Given the description of an element on the screen output the (x, y) to click on. 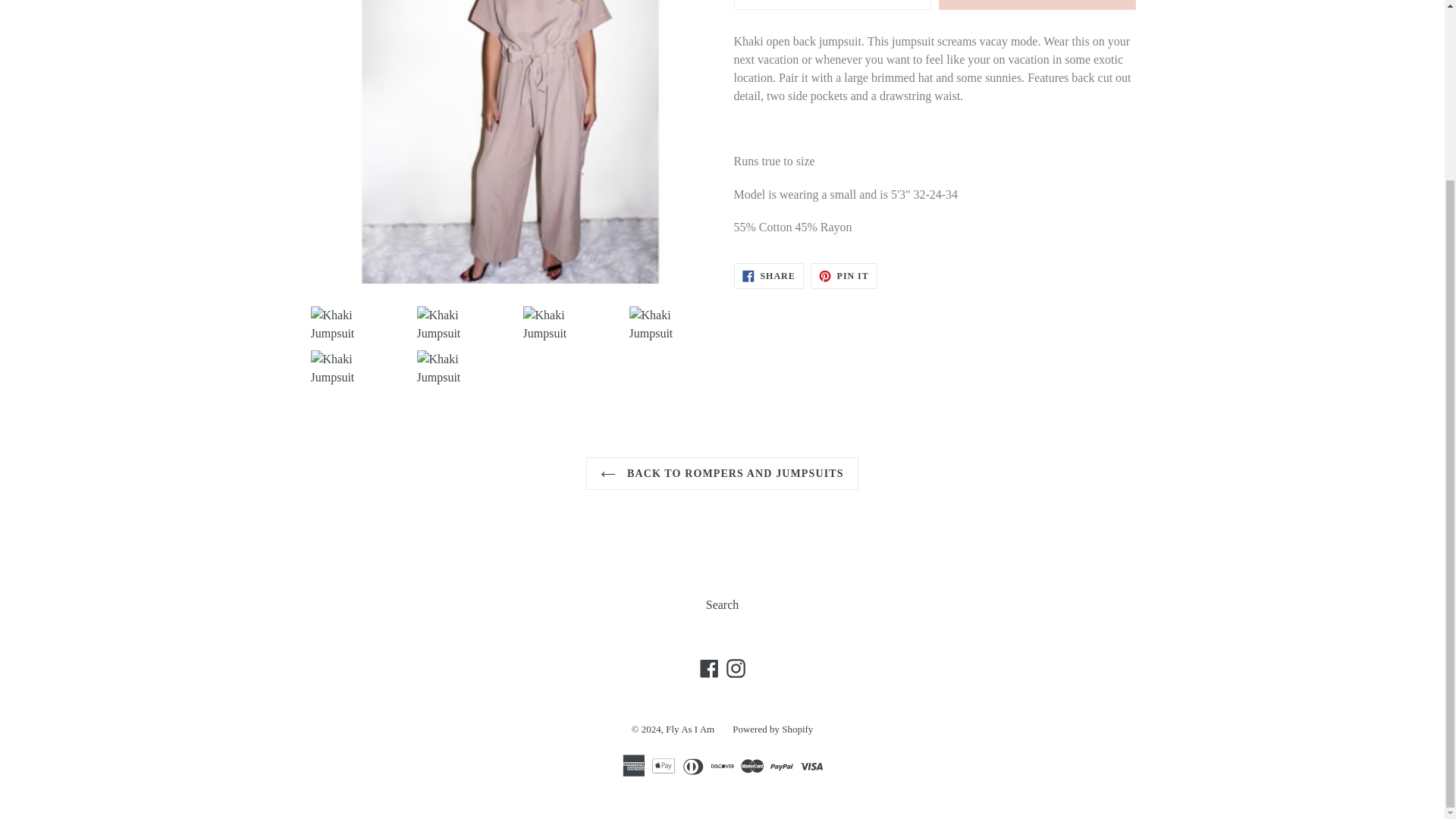
Share on Facebook (768, 275)
Fly As I Am on Facebook (708, 668)
Fly As I Am on Instagram (734, 668)
Pin on Pinterest (843, 275)
